Given the description of an element on the screen output the (x, y) to click on. 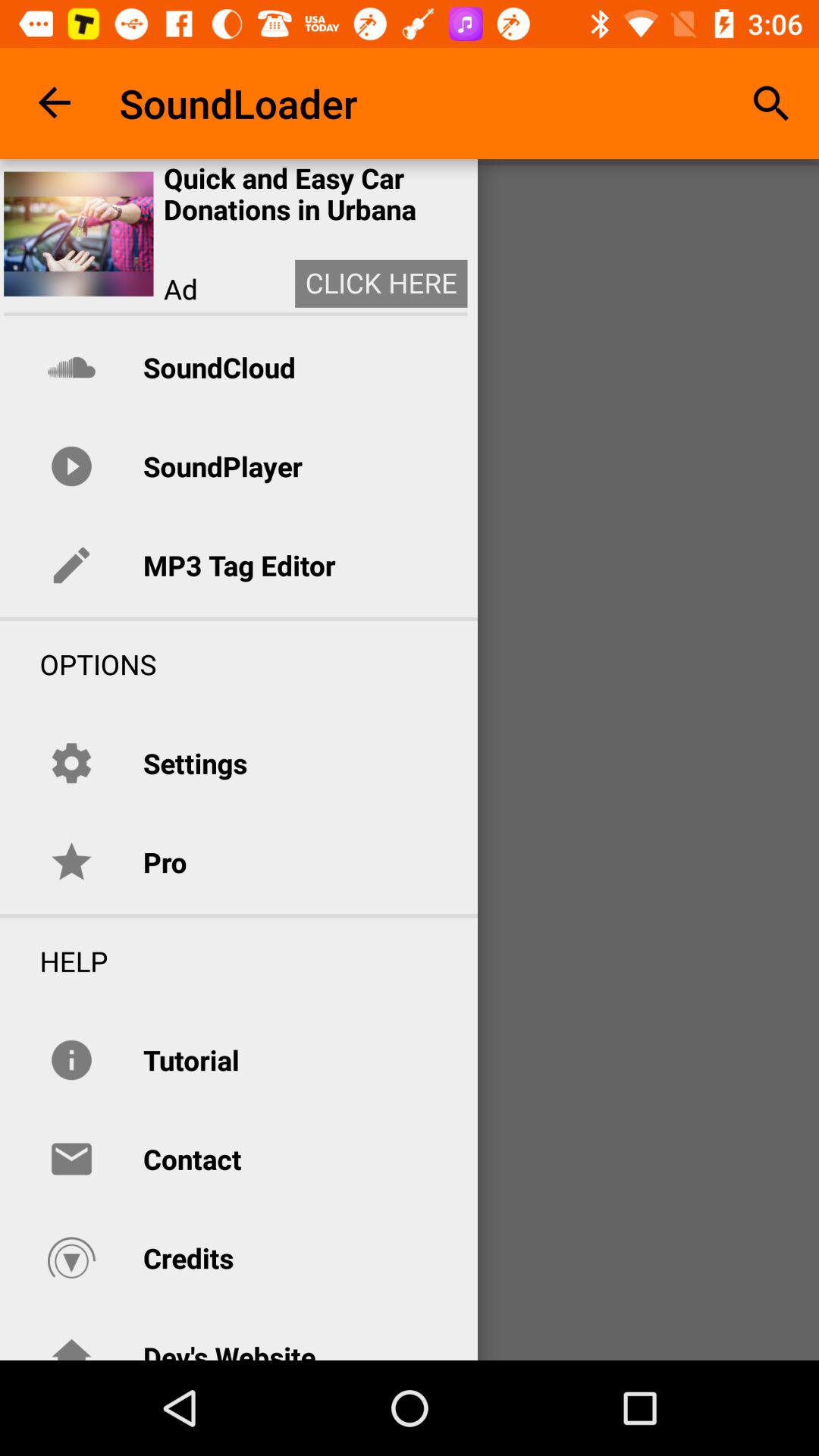
choose the options item (78, 664)
